Given the description of an element on the screen output the (x, y) to click on. 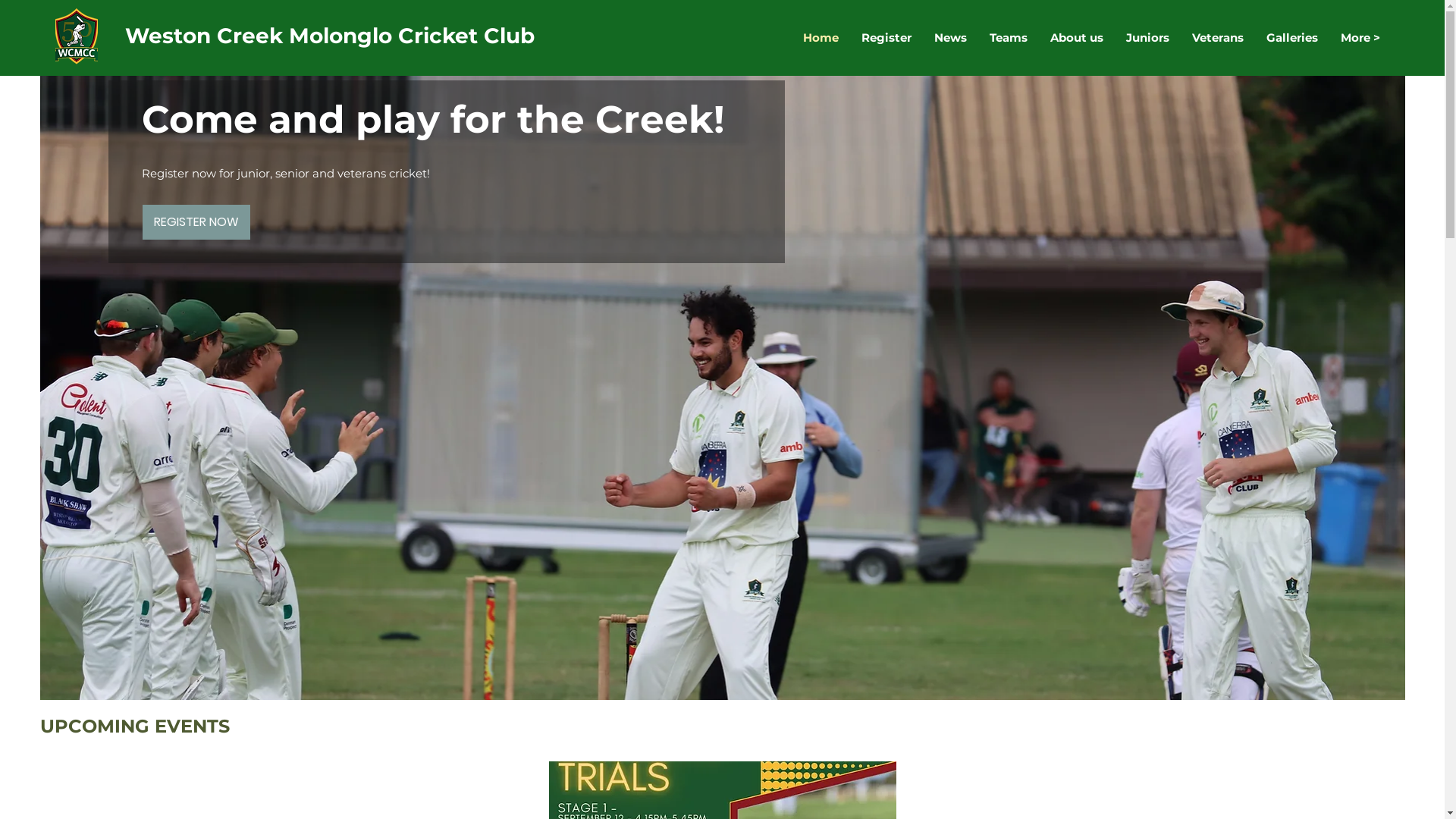
Weston Creek Molonglo Cricket Club Element type: text (329, 35)
Home Element type: text (820, 37)
REGISTER NOW Element type: text (181, 185)
Juniors Element type: text (1147, 37)
About us Element type: text (1076, 37)
Teams Element type: text (1008, 37)
Register Element type: text (885, 37)
News Element type: text (949, 37)
Veterans Element type: text (1216, 37)
Galleries Element type: text (1291, 37)
